Given the description of an element on the screen output the (x, y) to click on. 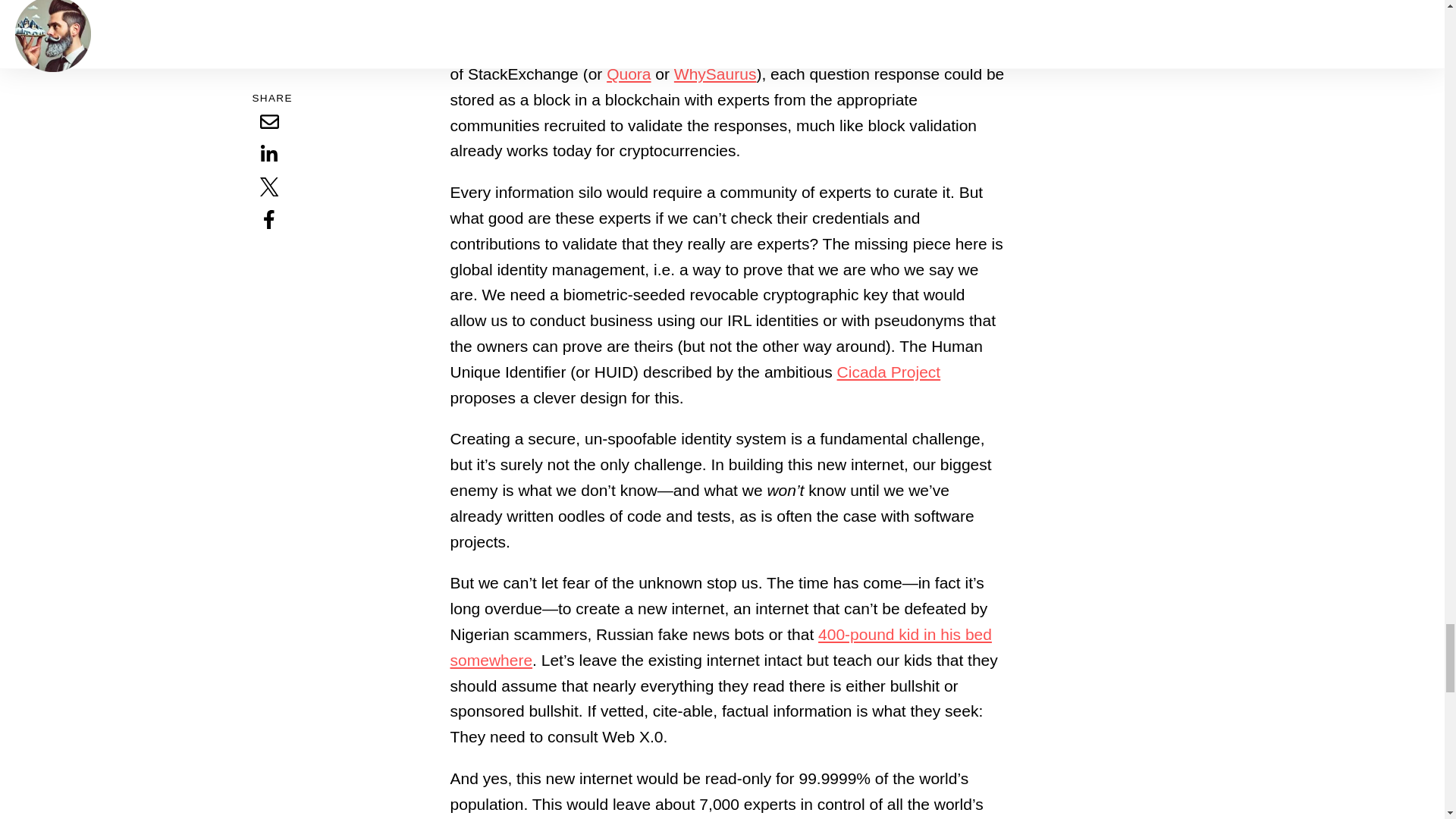
WhySaurus (715, 73)
Quora (628, 73)
Signal (472, 2)
StackExchange (665, 22)
400-pound kid in his bed somewhere (720, 647)
Cicada Project (888, 371)
Keybase (534, 2)
